Given the description of an element on the screen output the (x, y) to click on. 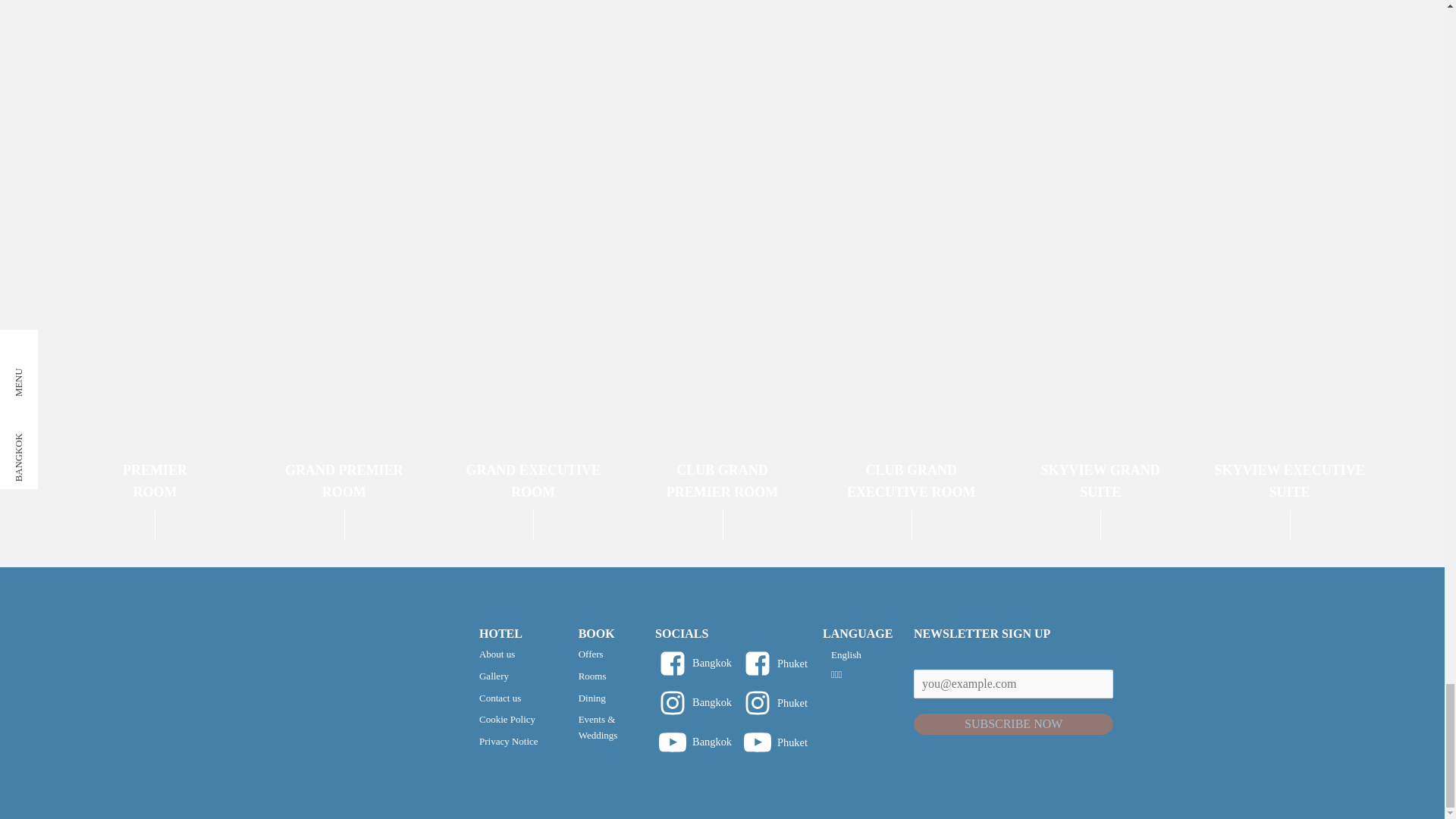
Rooms (1289, 262)
Contact us (344, 262)
About us (601, 676)
Privacy Notice (533, 262)
Dining (154, 262)
Gallery (508, 698)
Cookie Policy (911, 262)
Bangkok (508, 654)
Bangkok (508, 741)
